Given the description of an element on the screen output the (x, y) to click on. 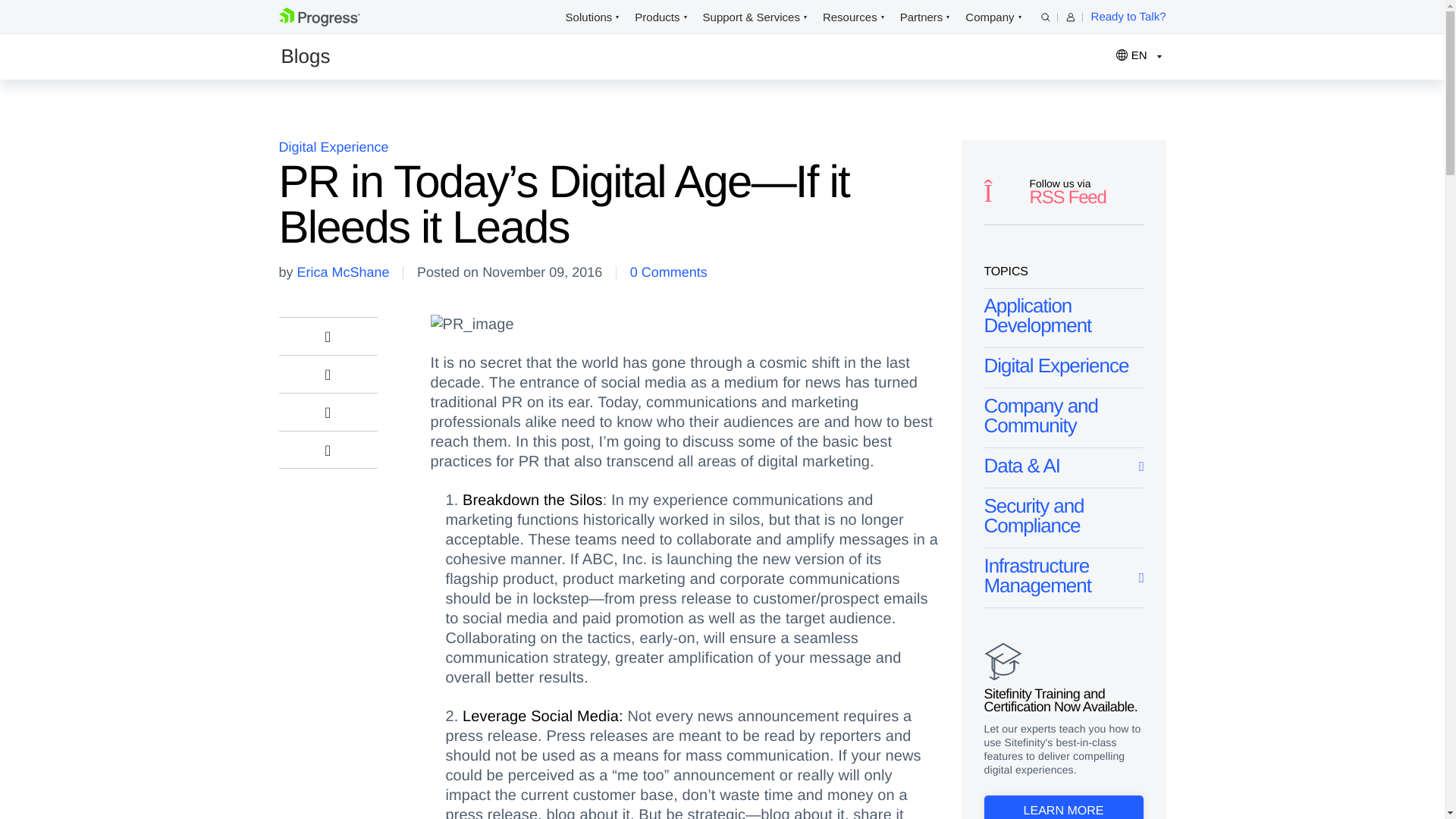
Search (1045, 17)
Products (656, 17)
SKIP NAVIGATION (343, 17)
Progress (319, 22)
Solutions (589, 17)
Progress (319, 16)
